Given the description of an element on the screen output the (x, y) to click on. 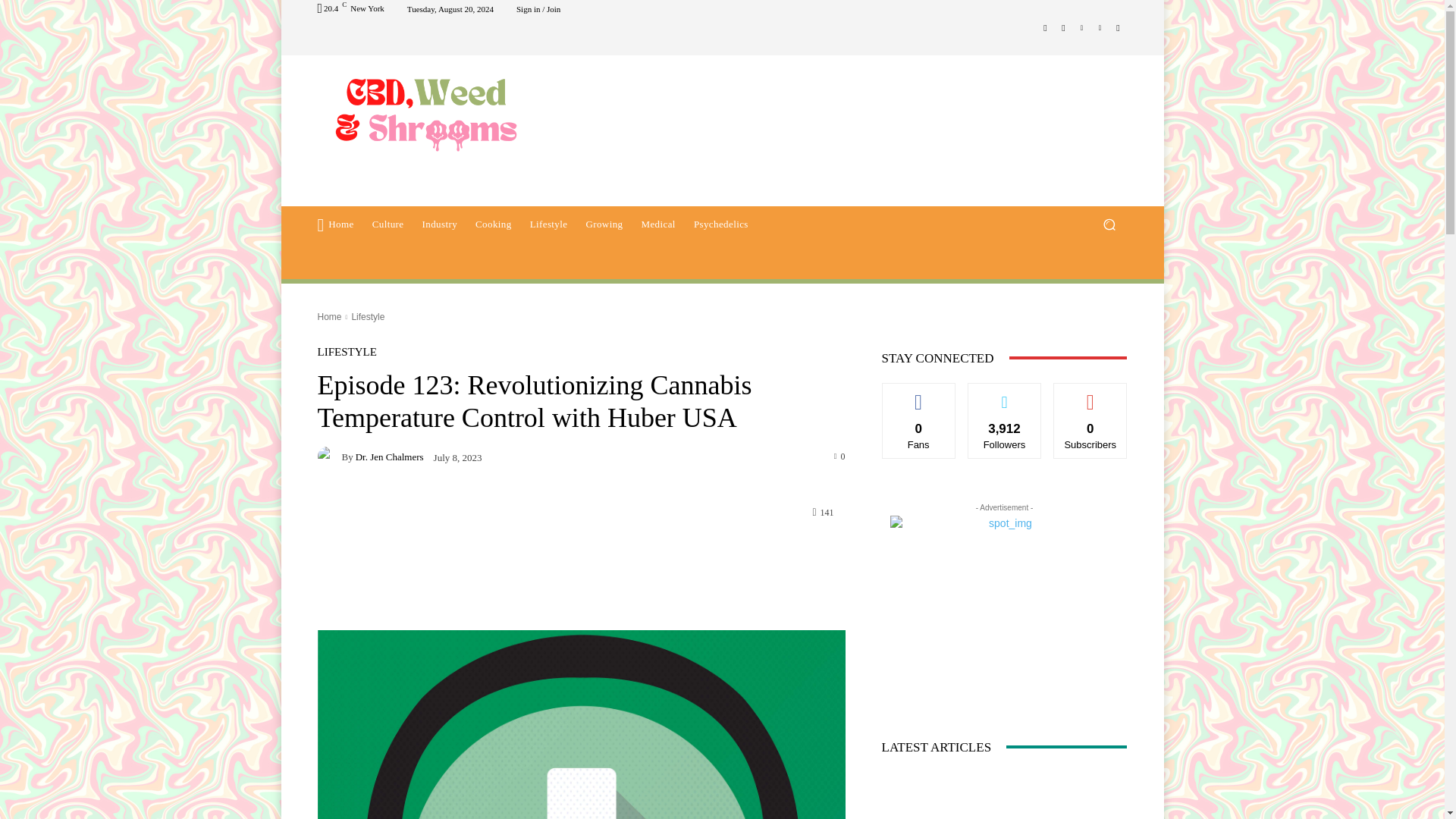
Cooking (493, 224)
Instagram (1062, 27)
Culture (387, 224)
Growing (603, 224)
Facebook (1044, 27)
Medical (657, 224)
View all posts in Lifestyle (367, 317)
Vimeo (1099, 27)
Dr. Jen Chalmers (328, 456)
Psychedelics (720, 224)
